Given the description of an element on the screen output the (x, y) to click on. 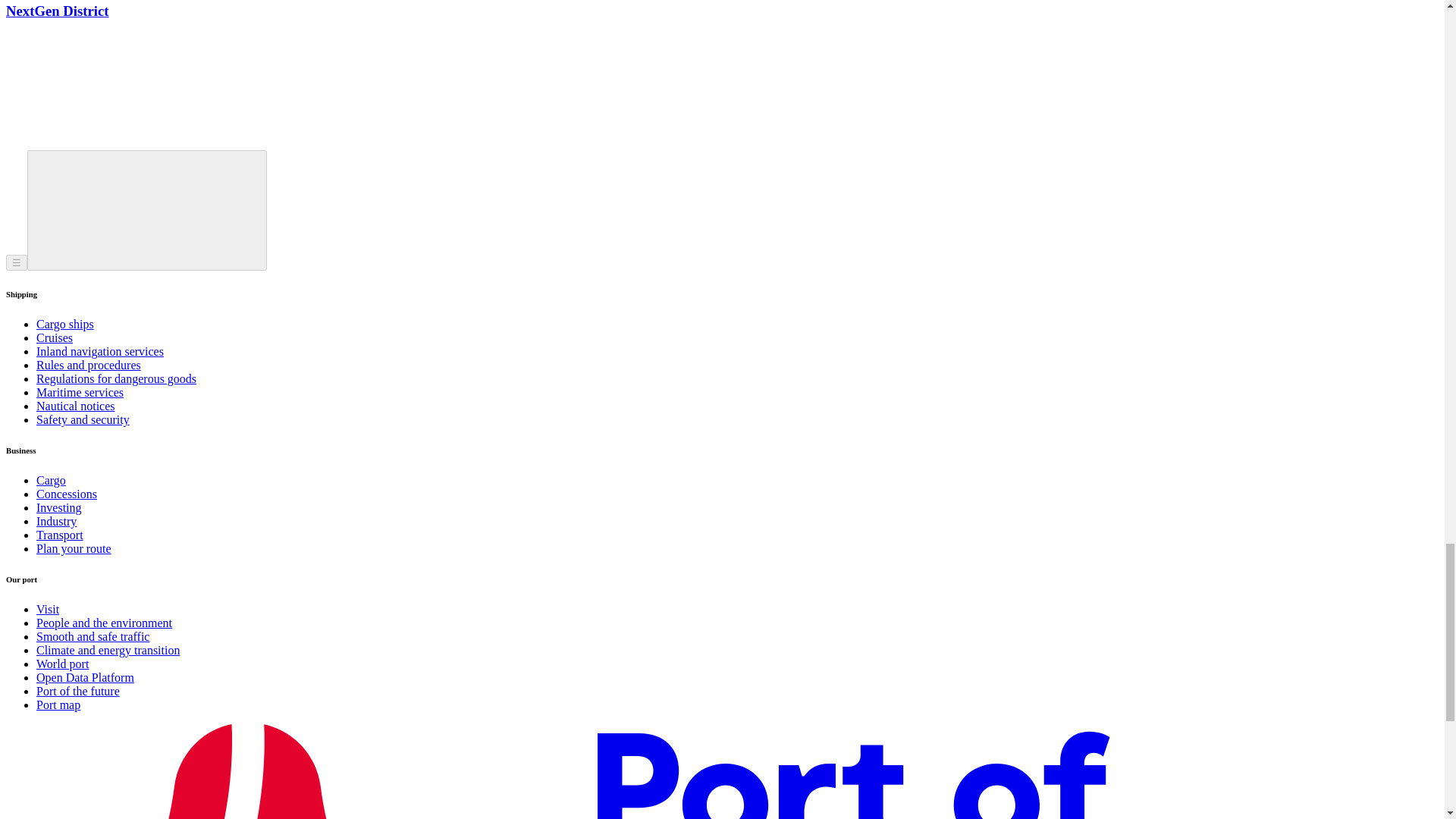
Rules and procedures (88, 364)
Nautical notices (75, 405)
Cargo ships (65, 323)
Regulations for dangerous goods (116, 378)
Safety and security (82, 419)
Maritime services (79, 391)
Cruises (54, 337)
Inland navigation services (99, 350)
